Given the description of an element on the screen output the (x, y) to click on. 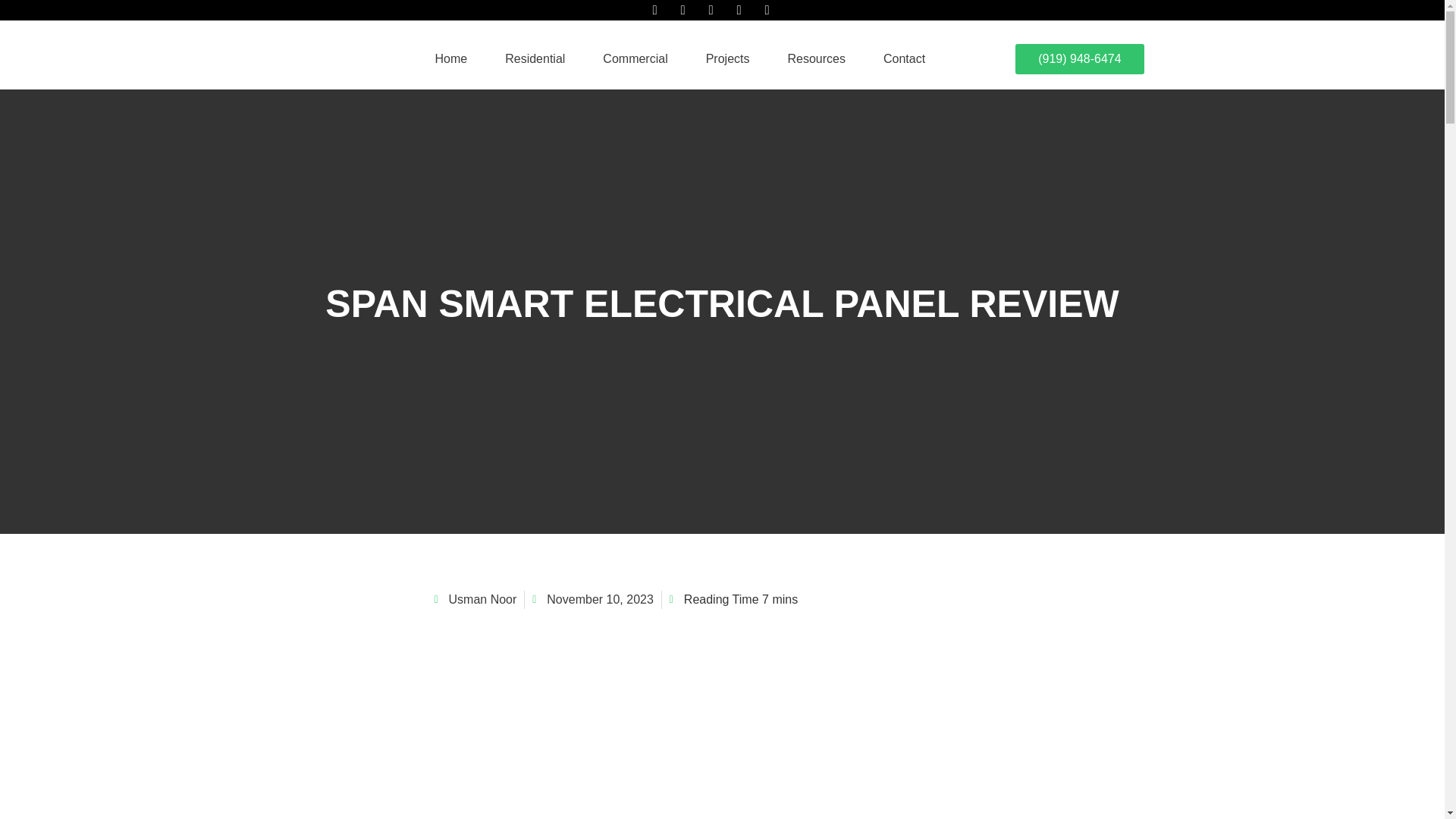
Resources (815, 58)
Projects (727, 58)
Residential (534, 58)
Home (451, 58)
Commercial (635, 58)
